Given the description of an element on the screen output the (x, y) to click on. 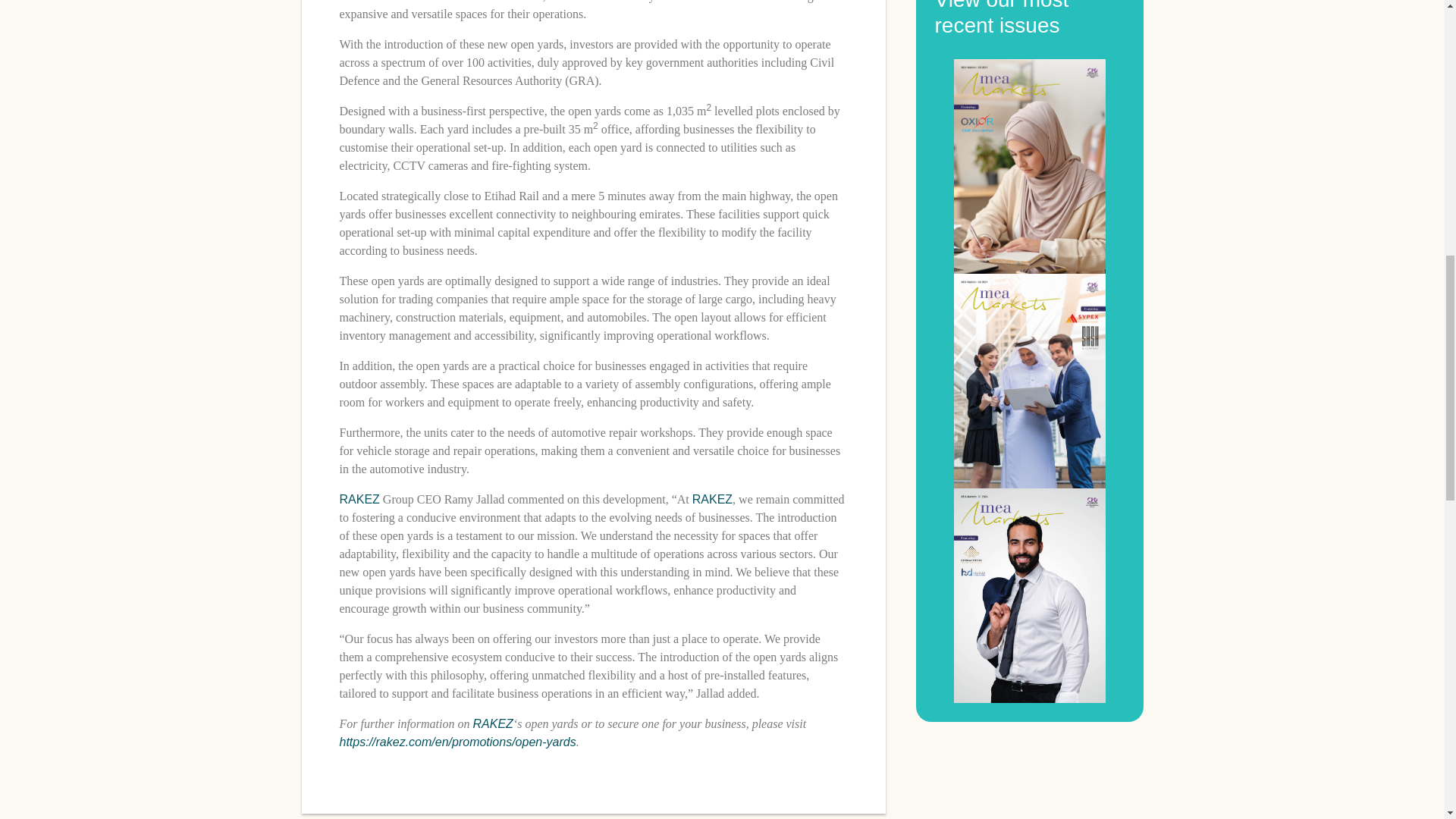
RAKEZ (359, 499)
RAKEZ (493, 723)
RAKEZ (712, 499)
